Given the description of an element on the screen output the (x, y) to click on. 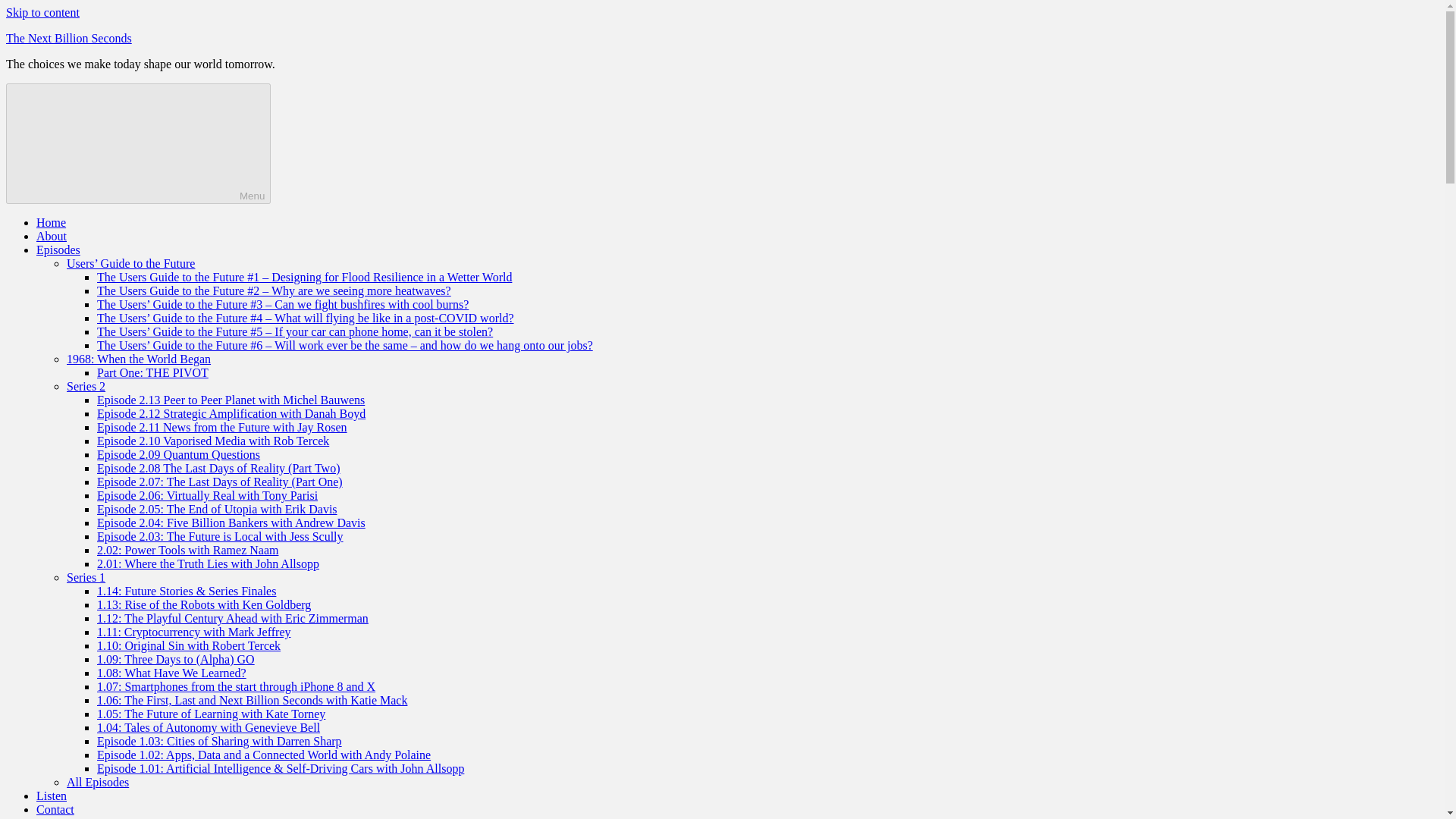
Menu (137, 143)
2.01: Where the Truth Lies with John Allsopp (207, 563)
1.07: Smartphones from the start through iPhone 8 and X (236, 686)
1.08: What Have We Learned? (171, 672)
Episode 2.03: The Future is Local with Jess Scully (220, 535)
Series 1 (85, 576)
1968: When the World Began (138, 358)
Episodes (58, 249)
2.02: Power Tools with Ramez Naam (187, 549)
Episode 2.13 Peer to Peer Planet with Michel Bauwens (231, 399)
1.13: Rise of the Robots with Ken Goldberg (204, 604)
Episode 2.04: Five Billion Bankers with Andrew Davis (231, 522)
Skip to content (42, 11)
Home (50, 222)
The Next Billion Seconds (68, 38)
